Given the description of an element on the screen output the (x, y) to click on. 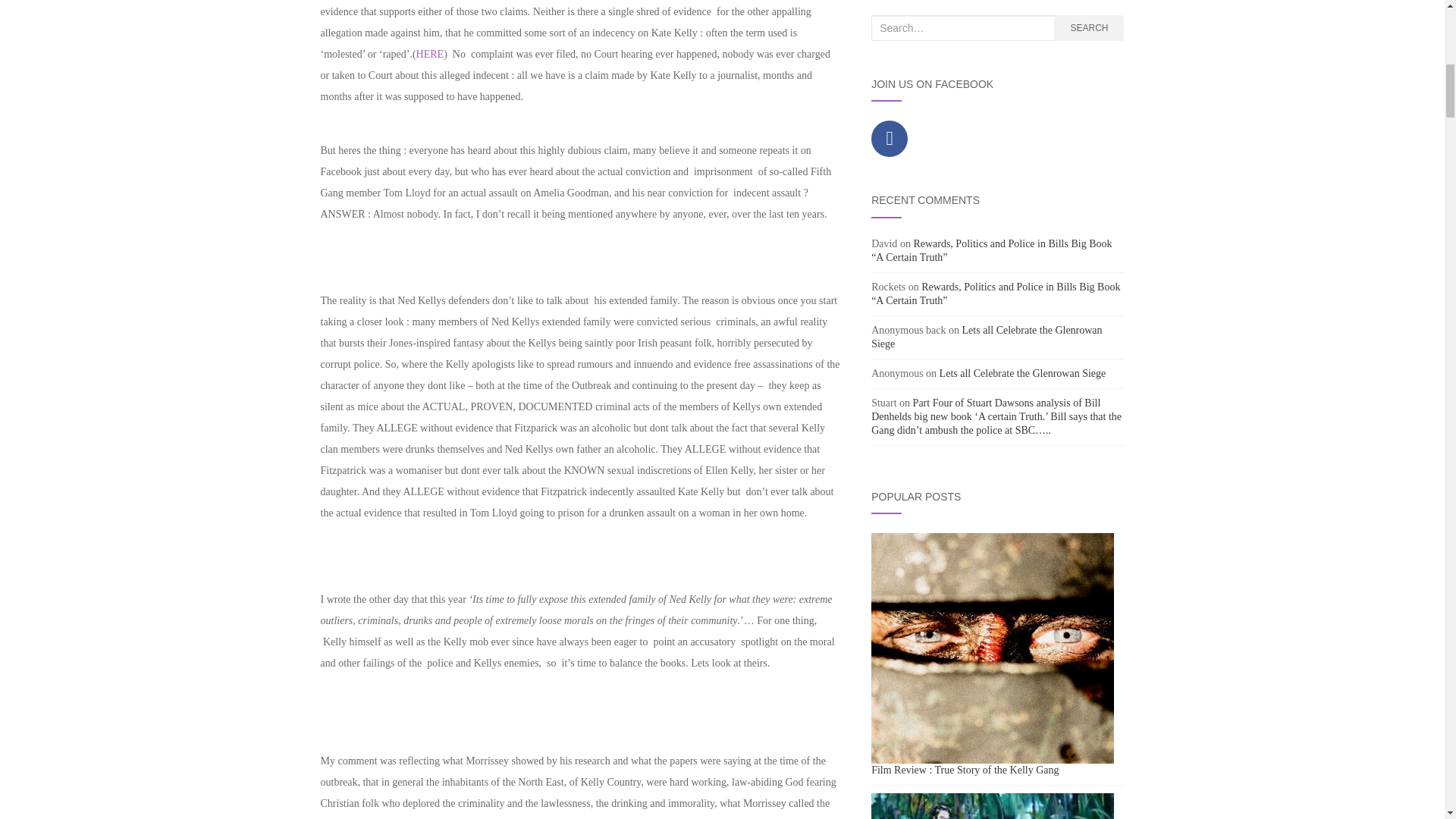
Film Review : True Story of the Kelly Gang (991, 648)
HERE (430, 53)
Search for: (962, 27)
Facebook (888, 138)
